Given the description of an element on the screen output the (x, y) to click on. 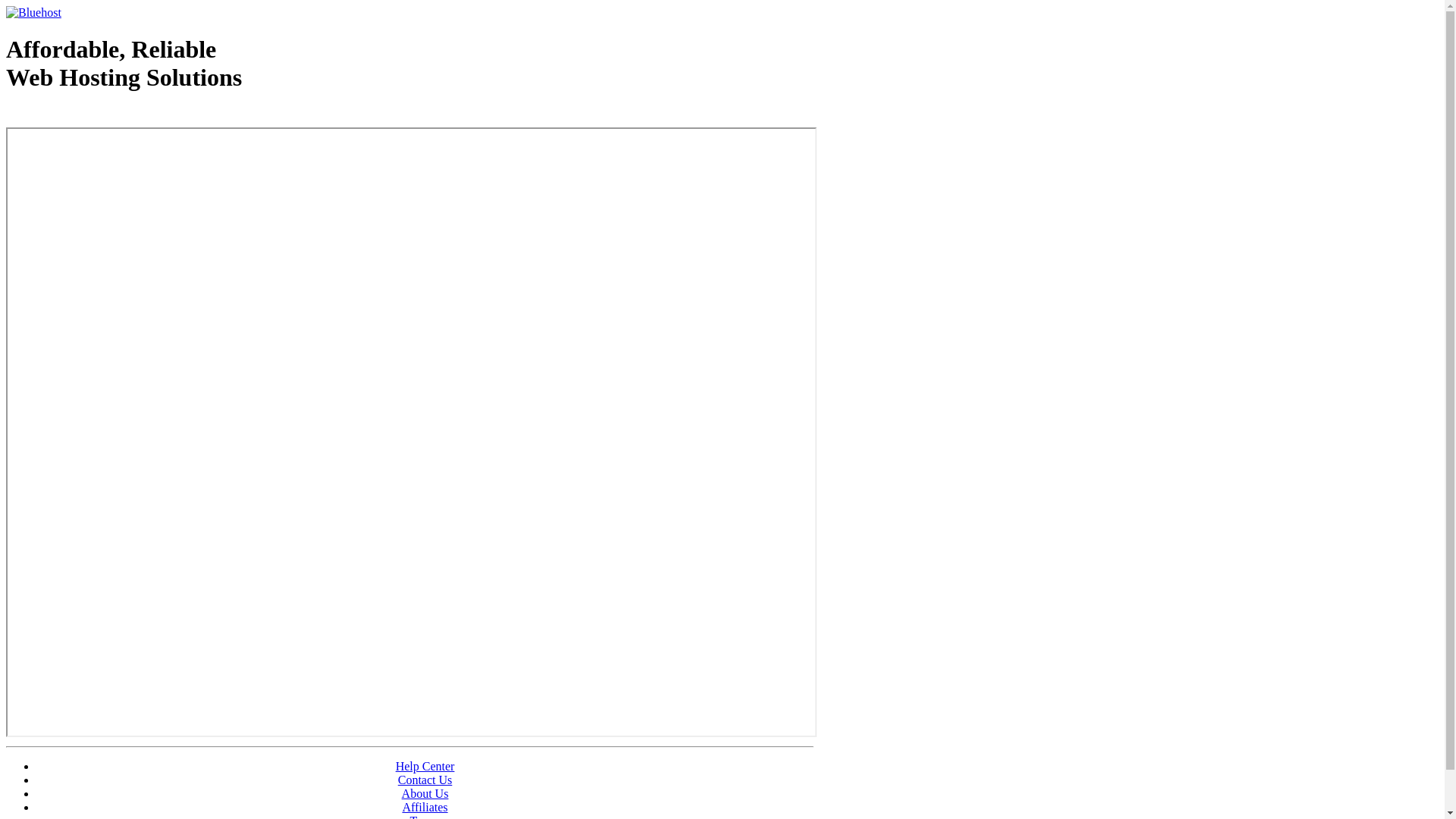
Help Center Element type: text (425, 765)
Affiliates Element type: text (424, 806)
About Us Element type: text (424, 793)
Web Hosting - courtesy of www.bluehost.com Element type: text (94, 115)
Contact Us Element type: text (425, 779)
